Given the description of an element on the screen output the (x, y) to click on. 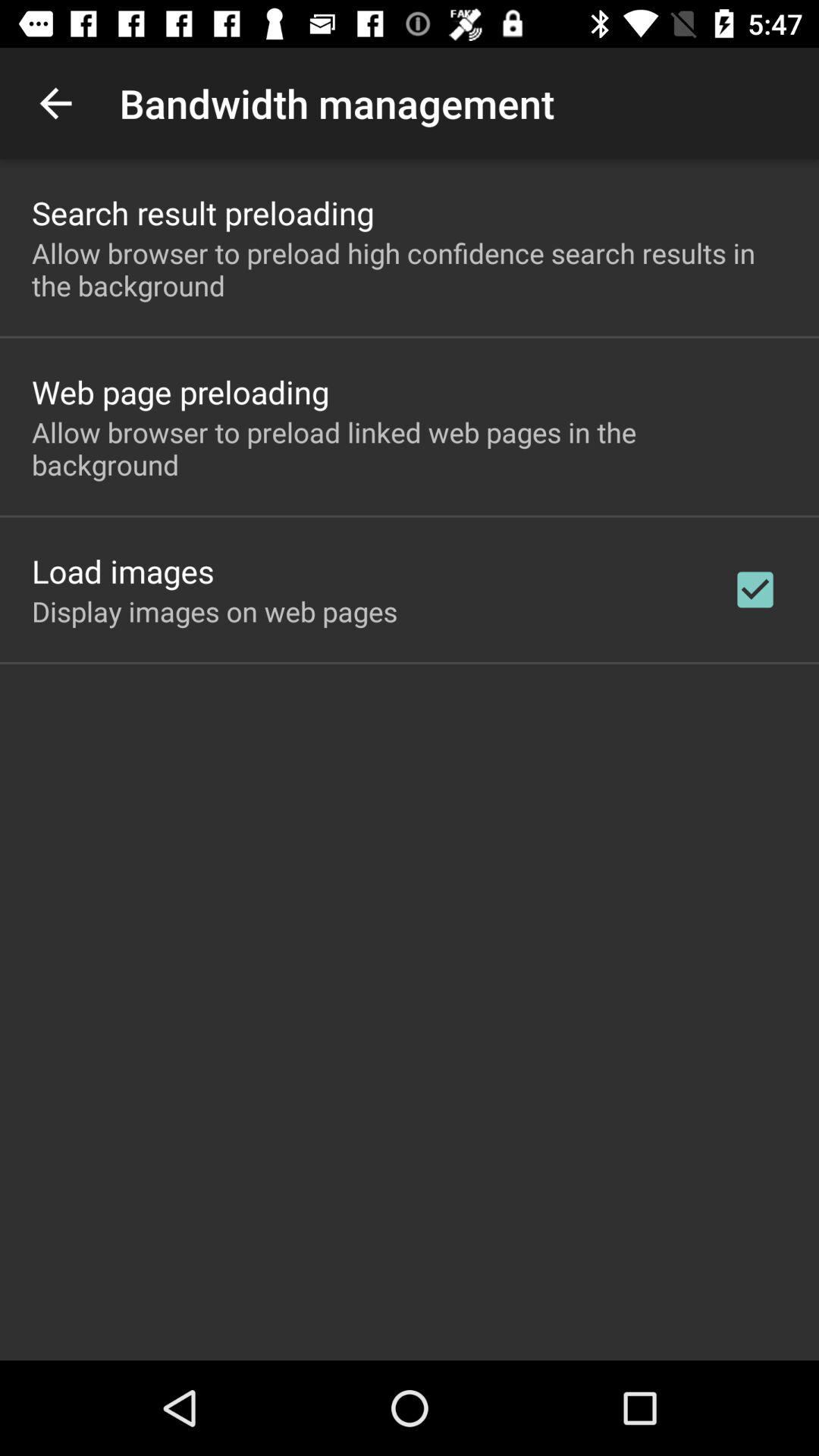
turn off item next to bandwidth management (55, 103)
